Given the description of an element on the screen output the (x, y) to click on. 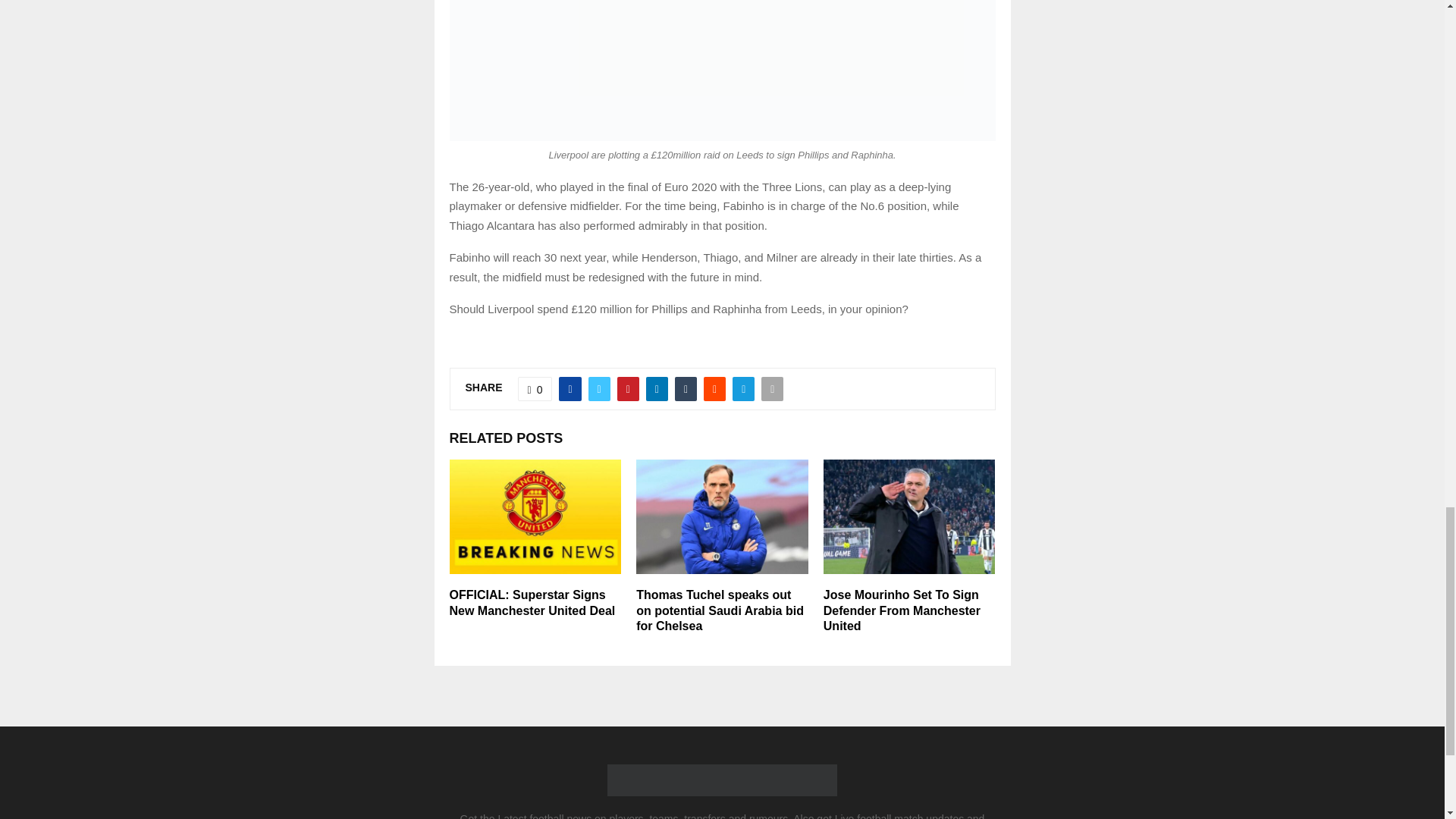
0 (535, 388)
Like (535, 388)
Jose Mourinho Set To Sign Defender From Manchester United (901, 610)
OFFICIAL: Superstar Signs New Manchester United Deal (531, 602)
